Given the description of an element on the screen output the (x, y) to click on. 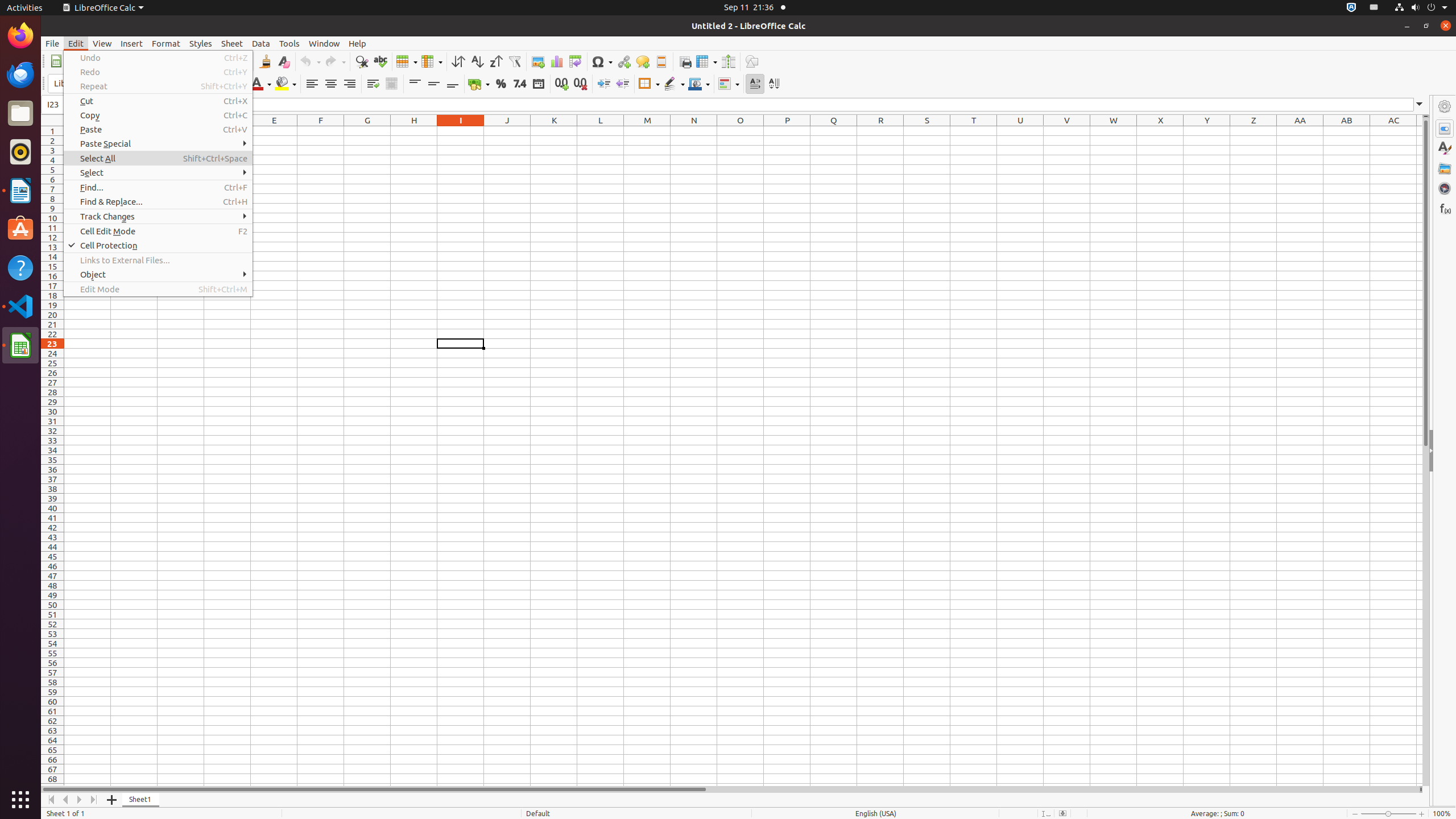
L1 Element type: table-cell (600, 130)
Symbol Element type: push-button (601, 61)
Clone Element type: push-button (264, 61)
I1 Element type: table-cell (460, 130)
AD1 Element type: table-cell (1419, 130)
